Given the description of an element on the screen output the (x, y) to click on. 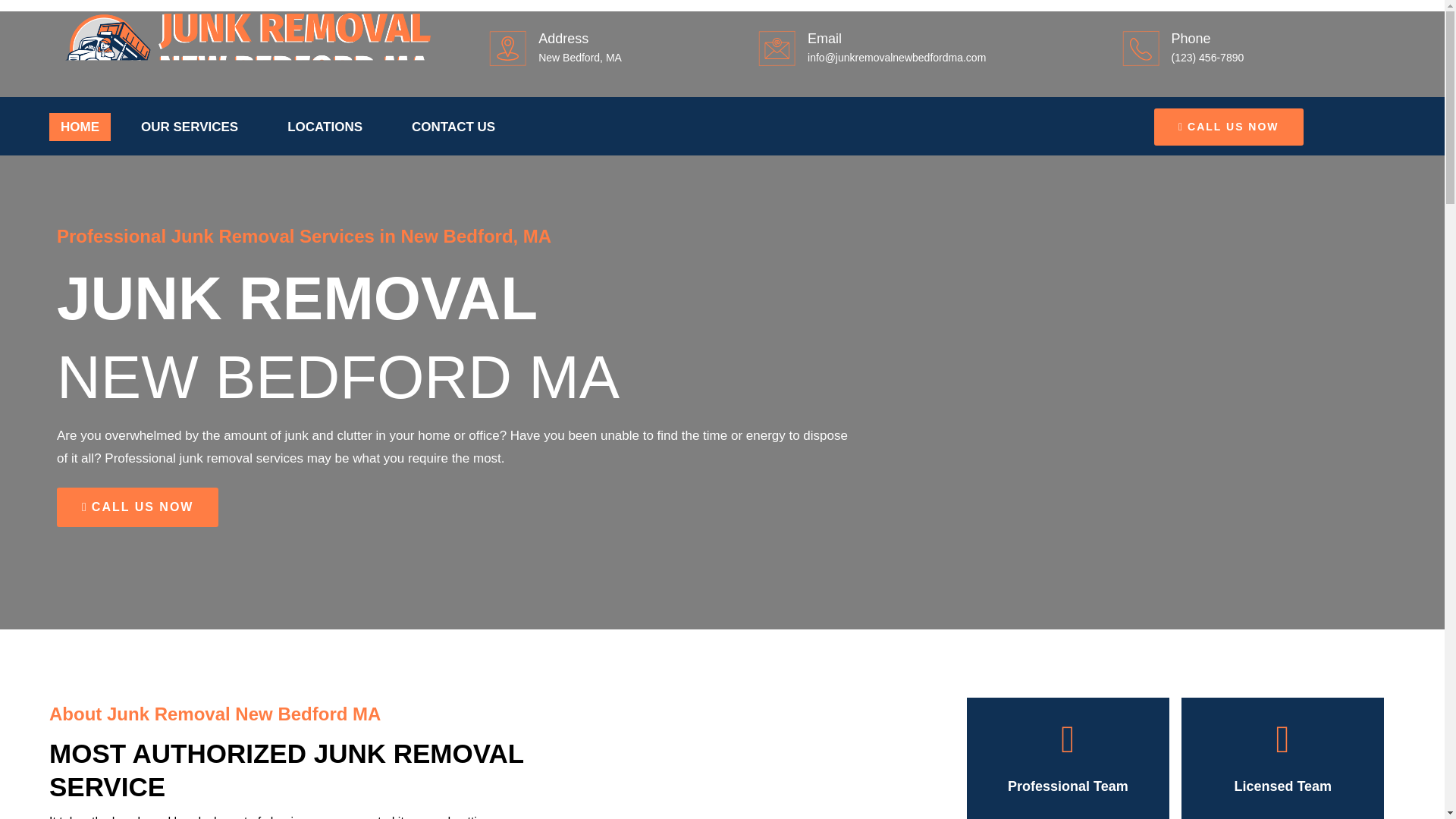
CONTACT US (453, 126)
LOCATIONS (328, 126)
OUR SERVICES (193, 126)
CALL US NOW (137, 507)
CALL US NOW (1228, 126)
HOME (79, 126)
